Given the description of an element on the screen output the (x, y) to click on. 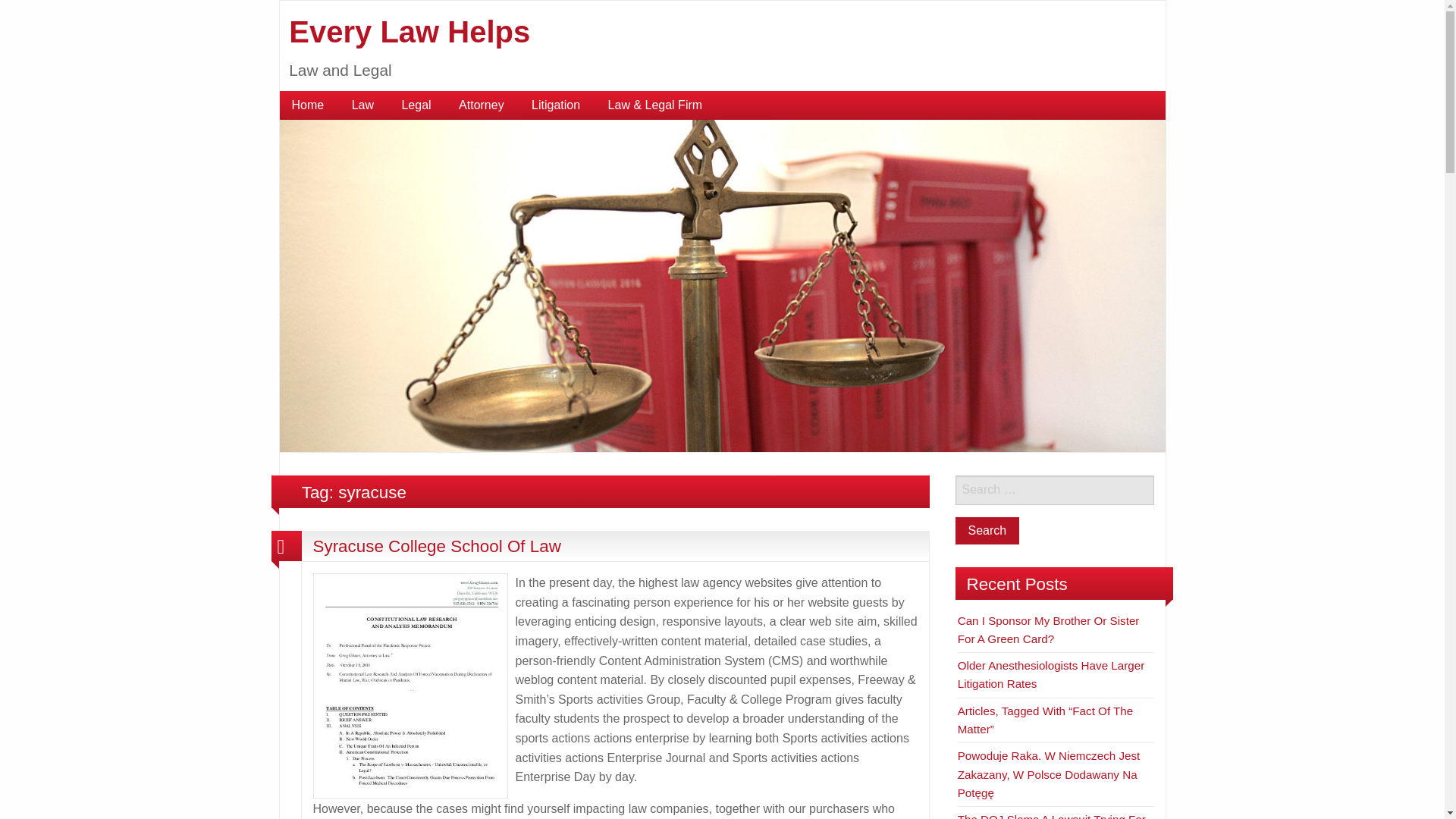
Search (987, 530)
Every Law Helps (721, 284)
Syracuse College School Of Law (436, 546)
Search (987, 530)
Can I Sponsor My Brother Or Sister For A Green Card? (1049, 629)
Home (307, 104)
Every Law Helps (408, 31)
Older Anesthesiologists Have Larger Litigation Rates (1051, 674)
Litigation (555, 104)
Attorney (481, 104)
Law (362, 104)
Legal (415, 104)
Search (987, 530)
